Given the description of an element on the screen output the (x, y) to click on. 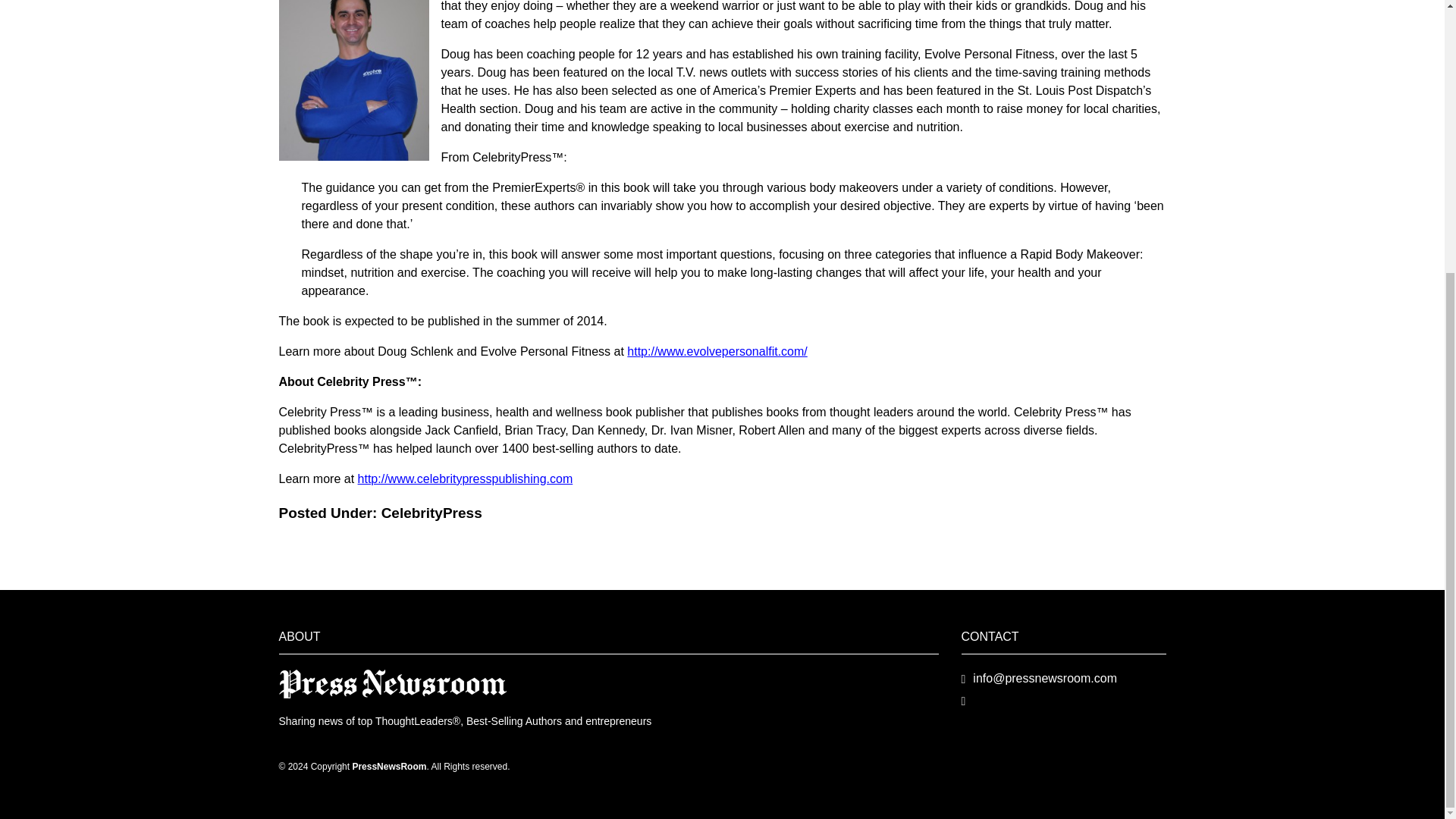
doug schlenk photo 2 (354, 80)
PressNewsRoom (392, 683)
CelebrityPress (431, 512)
